Given the description of an element on the screen output the (x, y) to click on. 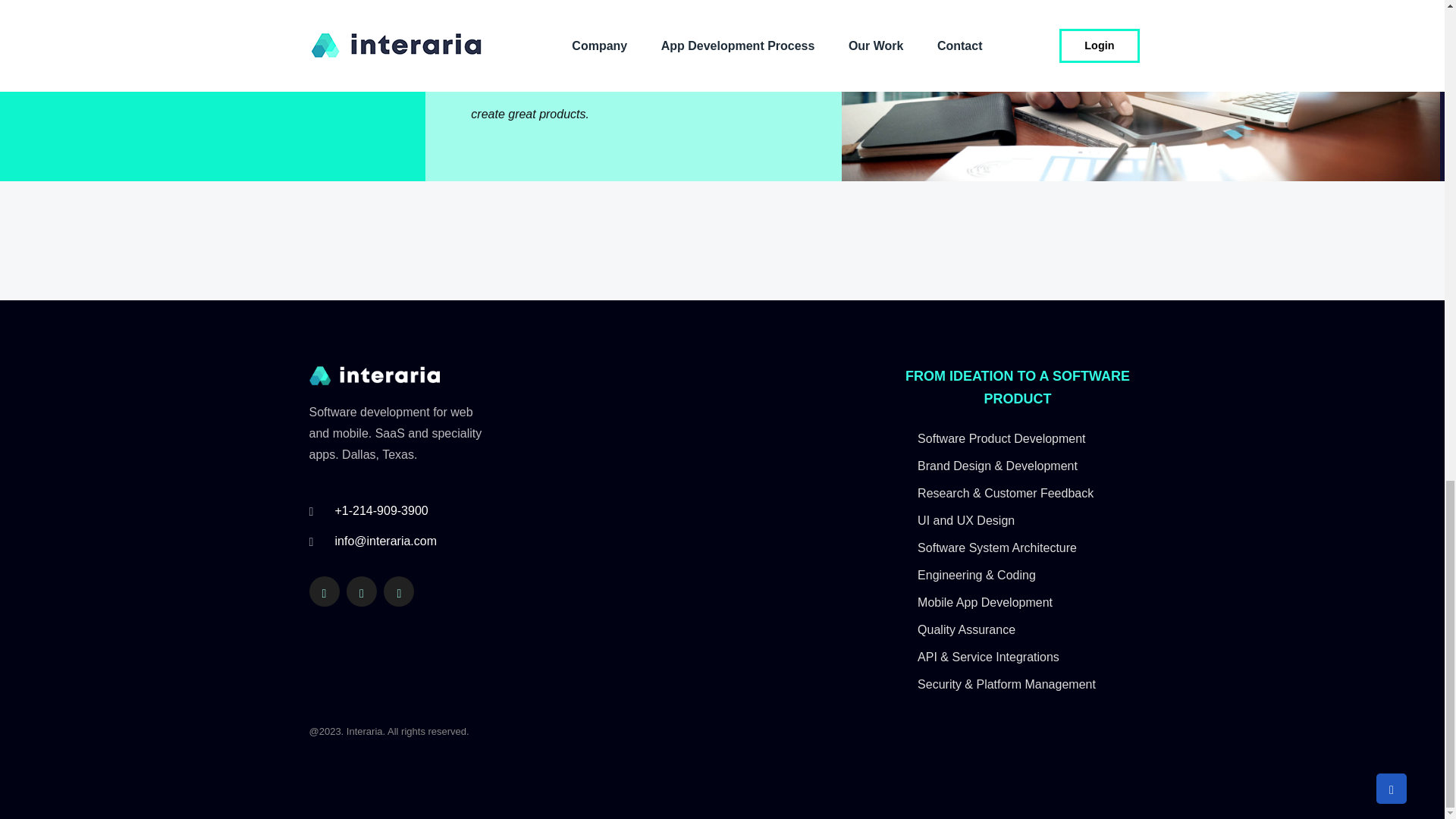
UI and UX Design (1016, 520)
Twitter (361, 591)
Software System Architecture (1016, 547)
Pinterest (398, 591)
LinkedIn (323, 591)
Software Product Development (1016, 438)
